Given the description of an element on the screen output the (x, y) to click on. 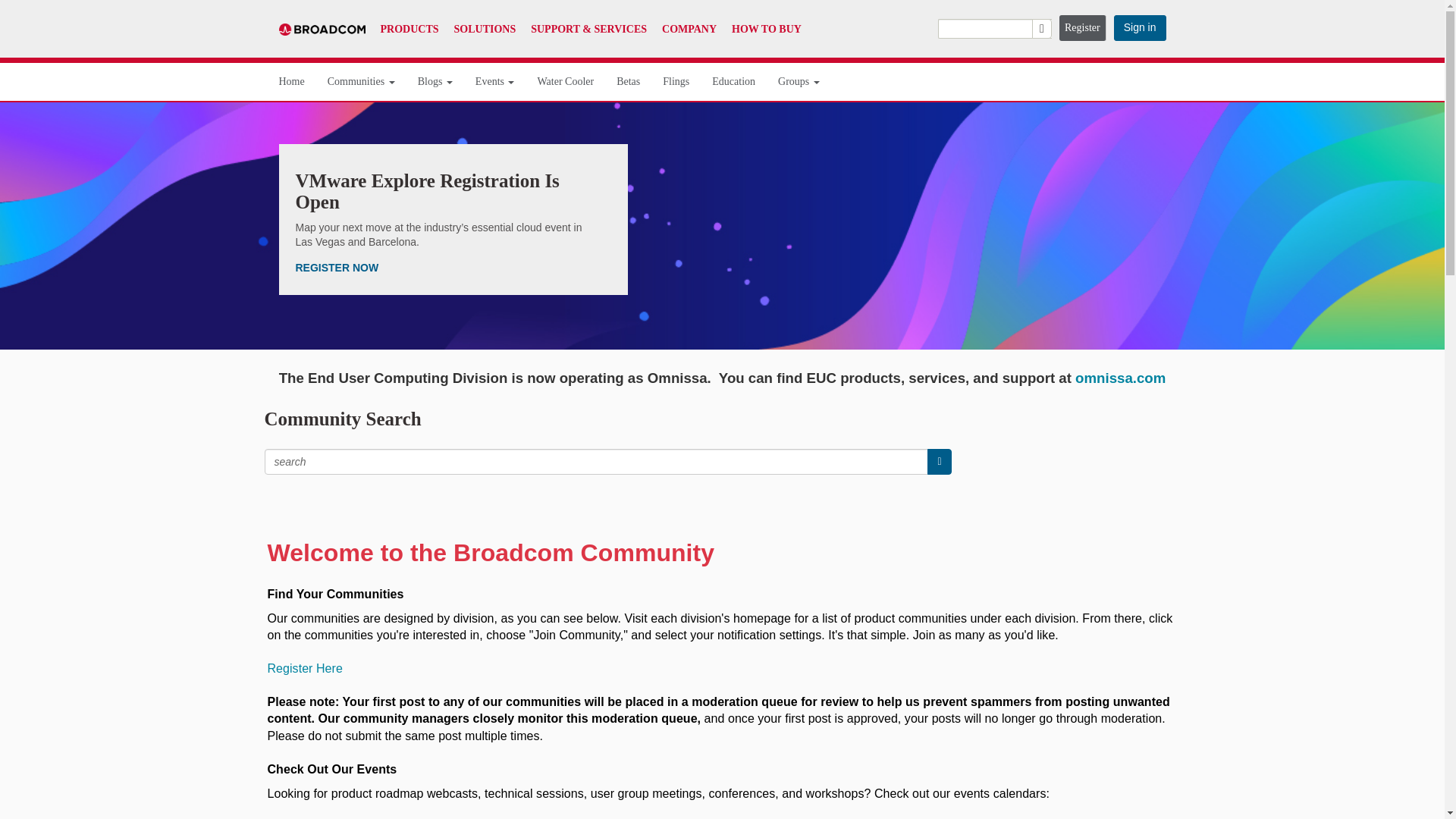
search (938, 461)
search term input (595, 461)
HOW TO BUY (767, 29)
Blogs (434, 81)
Communities (360, 81)
Events (495, 81)
SOLUTIONS (485, 29)
Water Cooler (565, 81)
COMPANY (689, 29)
PRODUCTS (409, 29)
Sign in (1139, 27)
search (994, 28)
Register (1082, 27)
